Given the description of an element on the screen output the (x, y) to click on. 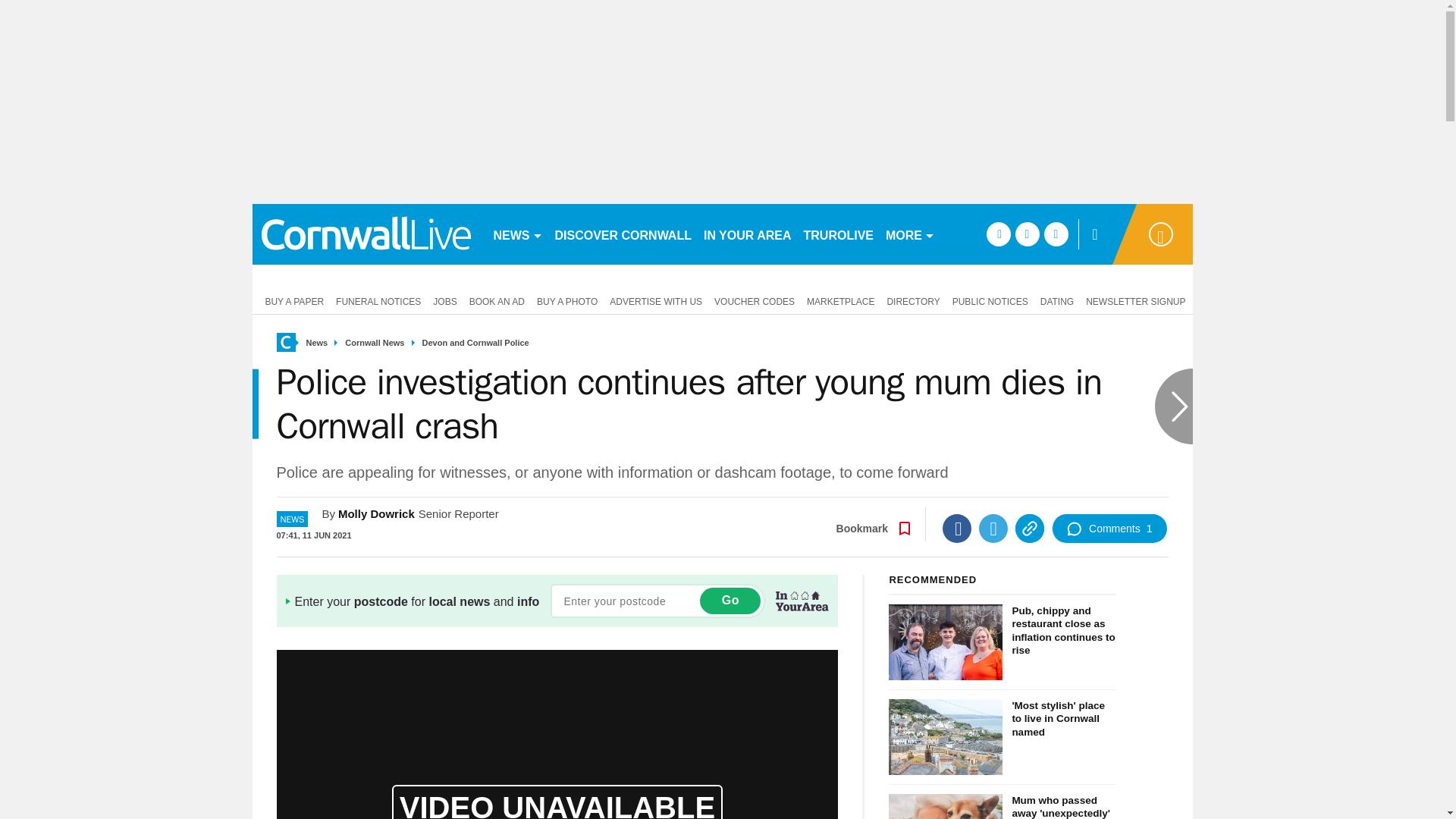
TRUROLIVE (838, 233)
Go (730, 601)
instagram (1055, 233)
Facebook (956, 528)
MORE (909, 233)
twitter (1026, 233)
facebook (997, 233)
IN YOUR AREA (747, 233)
Twitter (992, 528)
DISCOVER CORNWALL (622, 233)
Comments (1108, 528)
cornwalllive (365, 233)
NEWS (517, 233)
